Given the description of an element on the screen output the (x, y) to click on. 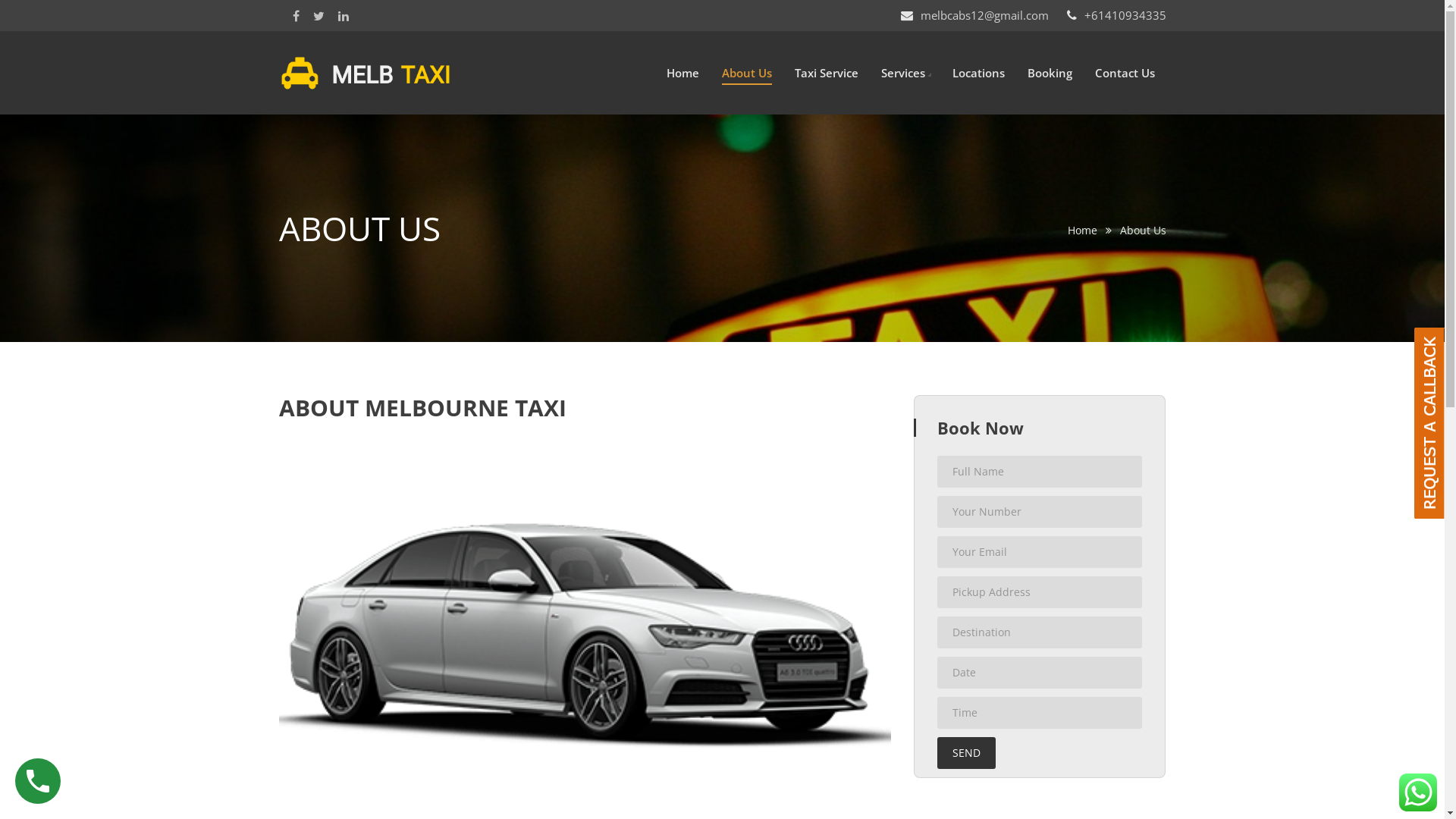
Taxi Service Element type: text (826, 72)
SEND Element type: text (966, 752)
melbcabs12@gmail.com Element type: text (984, 14)
Home Element type: text (681, 72)
Locations Element type: text (978, 72)
Booking Element type: text (1048, 72)
+61410934335 Element type: text (1125, 14)
Home Element type: text (1082, 229)
Services Element type: text (903, 72)
About Us Element type: text (746, 72)
Contact Us Element type: text (1124, 72)
